Given the description of an element on the screen output the (x, y) to click on. 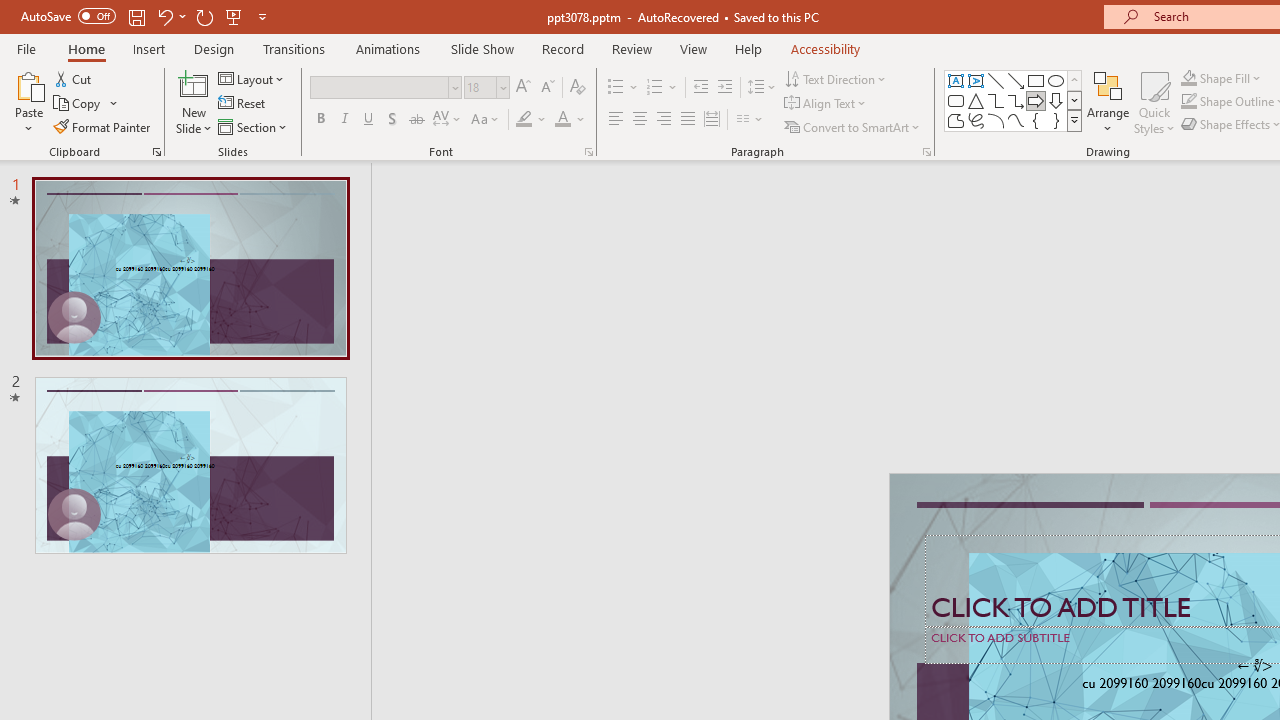
Align Text (826, 103)
Justify (687, 119)
Decrease Indent (700, 87)
Shape Outline Green, Accent 1 (1188, 101)
Center (639, 119)
